Given the description of an element on the screen output the (x, y) to click on. 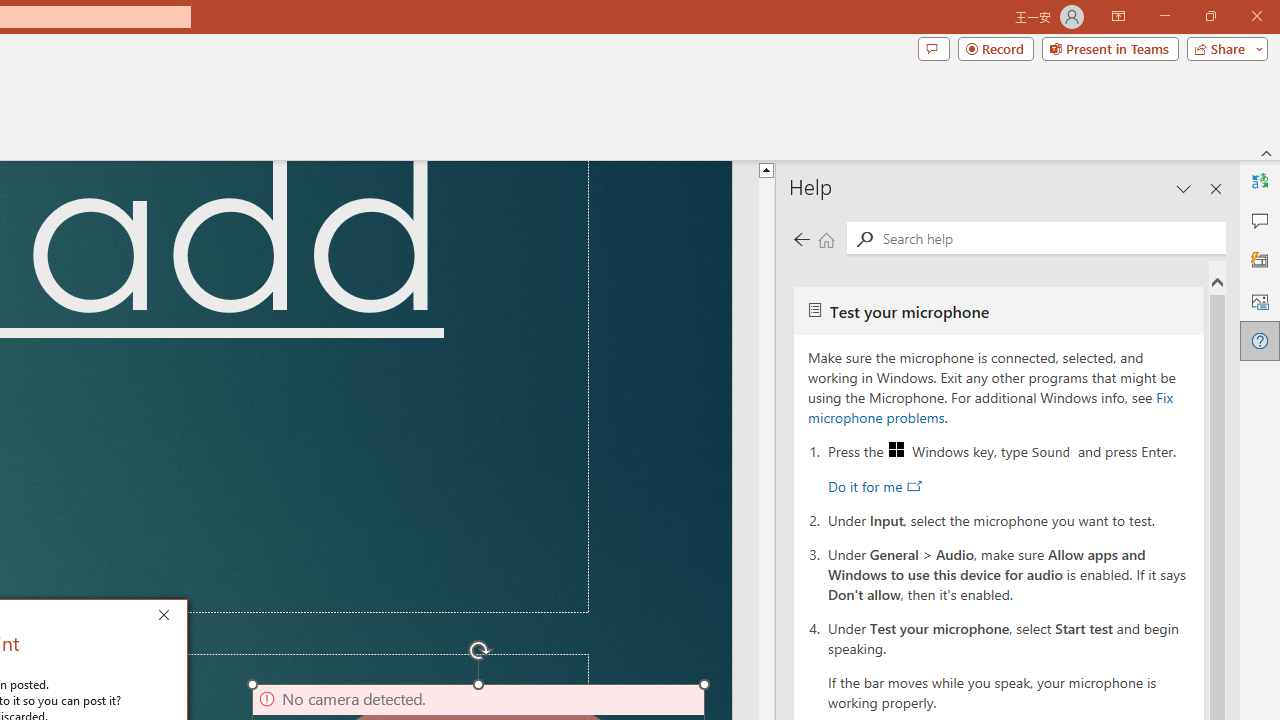
Under Input, select the microphone you want to test. (1009, 519)
Test your microphone (998, 310)
Do it for me (874, 486)
